Given the description of an element on the screen output the (x, y) to click on. 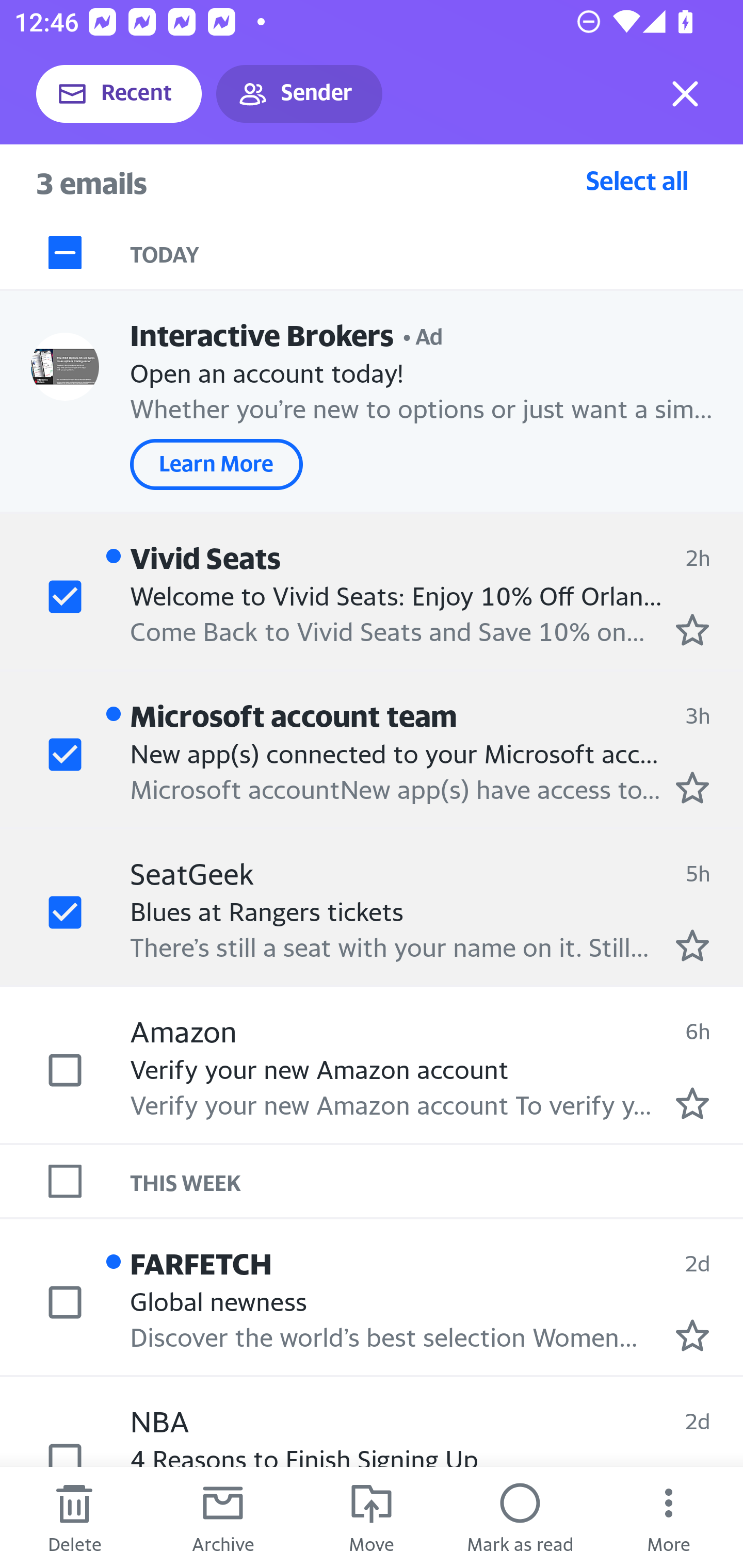
Sender (299, 93)
Exit selection mode (684, 93)
Select all (637, 180)
TODAY (436, 252)
Mark as starred. (692, 629)
Mark as starred. (692, 787)
Mark as starred. (692, 944)
Mark as starred. (692, 1103)
THIS WEEK (436, 1181)
Mark as starred. (692, 1335)
Delete (74, 1517)
Archive (222, 1517)
Move (371, 1517)
Mark as read (519, 1517)
More (668, 1517)
